Given the description of an element on the screen output the (x, y) to click on. 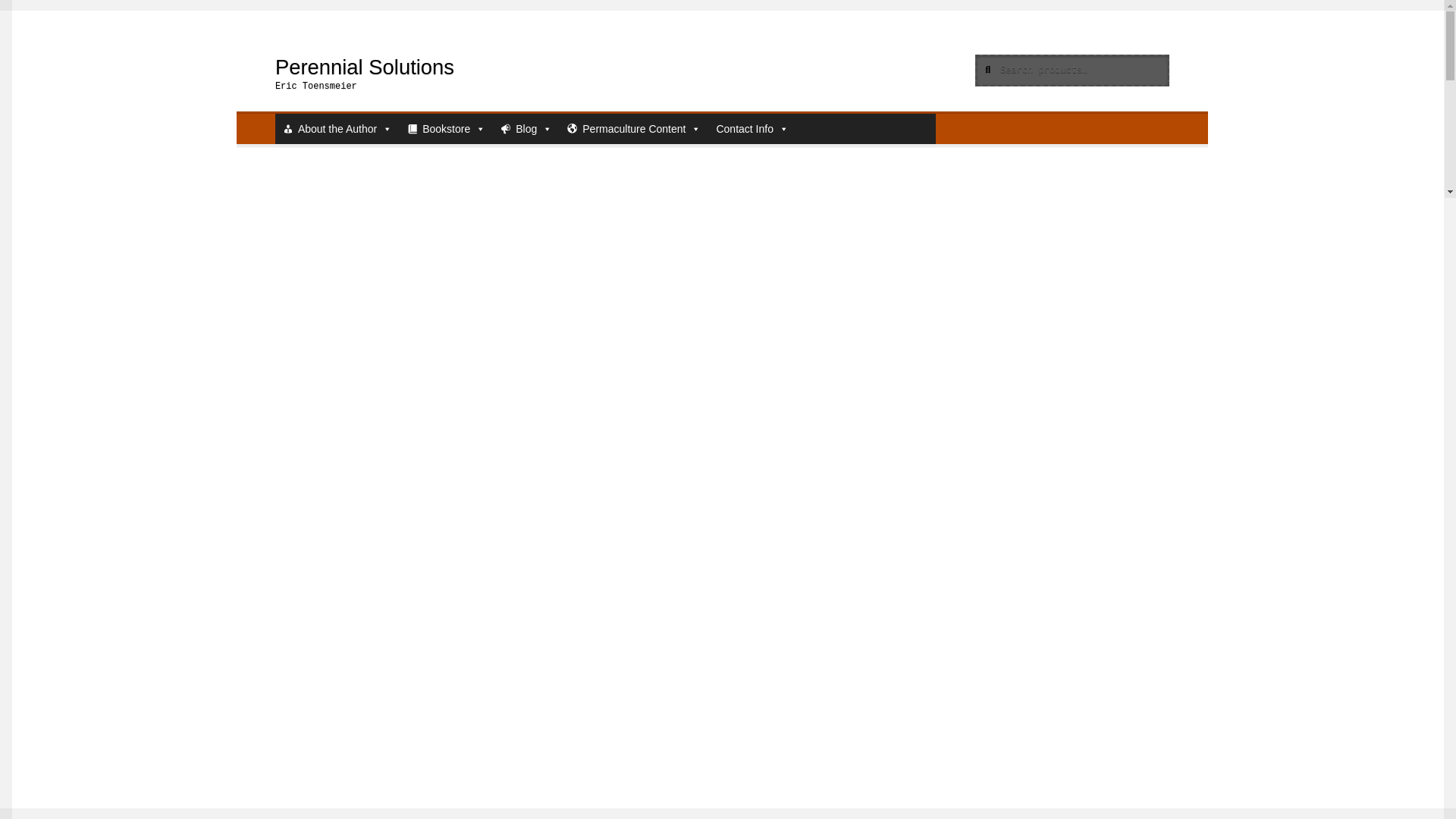
Blog (526, 128)
About the Author (336, 128)
Bookstore (445, 128)
Permaculture Content (633, 128)
Perennial Solutions (364, 66)
